Given the description of an element on the screen output the (x, y) to click on. 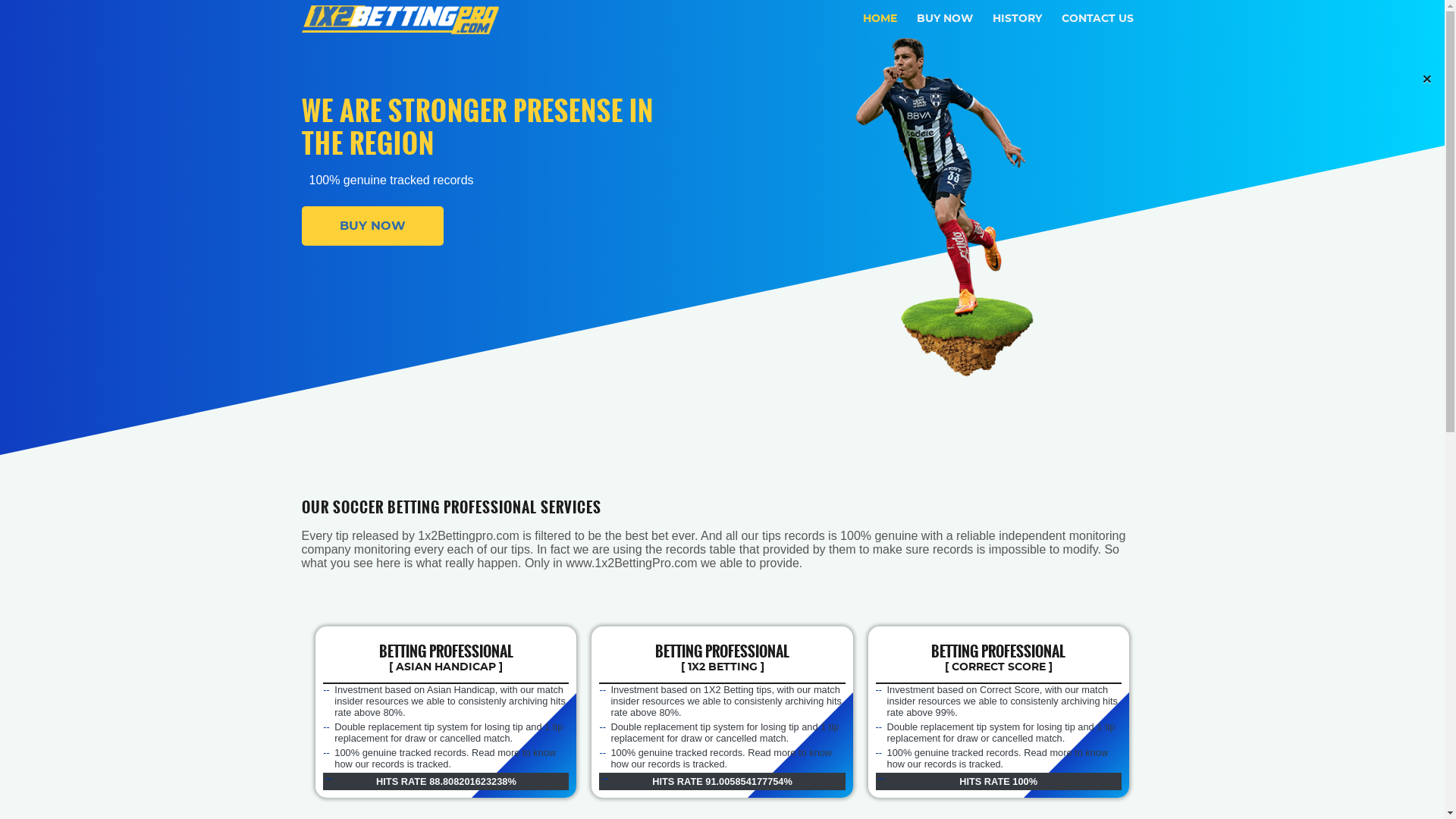
BUY NOW Element type: text (944, 18)
CONTACT US Element type: text (1097, 18)
HOME
(CURRENT) Element type: text (879, 18)
HISTORY Element type: text (1016, 18)
BUY NOW Element type: text (372, 225)
